Given the description of an element on the screen output the (x, y) to click on. 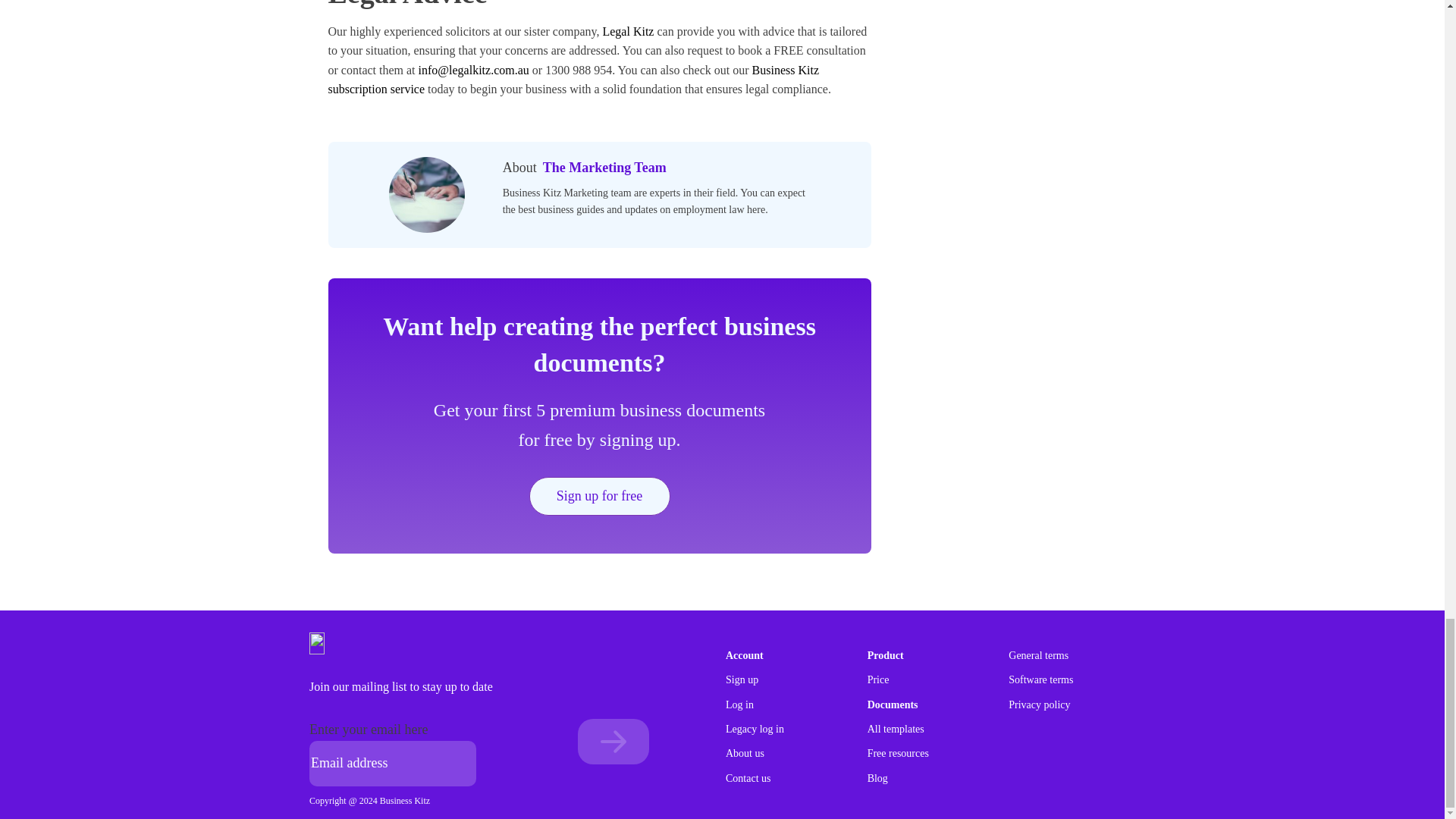
All templates (895, 729)
Business Kitz subscription service (572, 79)
Legacy log in (754, 729)
Contact us (748, 778)
Log in (739, 704)
About us (744, 753)
Legal Kitz (627, 31)
Sign up (741, 679)
Sign up for free (599, 495)
Free resources (897, 753)
Price (878, 679)
